Given the description of an element on the screen output the (x, y) to click on. 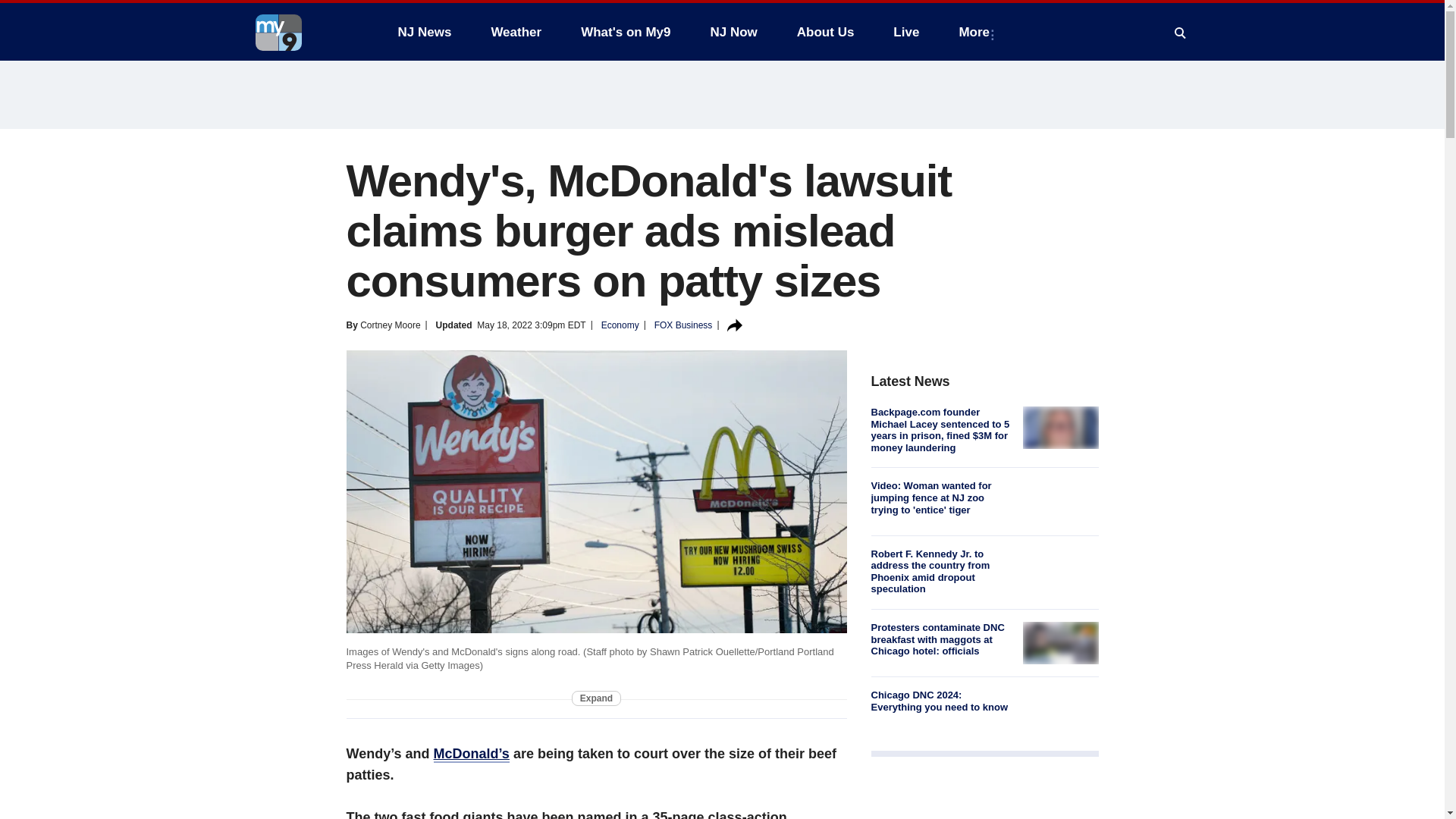
FOX Business (683, 325)
Live (905, 32)
Economy (620, 325)
Weather (516, 32)
What's on My9 (625, 32)
NJ Now (732, 32)
About Us (825, 32)
More (976, 32)
NJ News (424, 32)
